Given the description of an element on the screen output the (x, y) to click on. 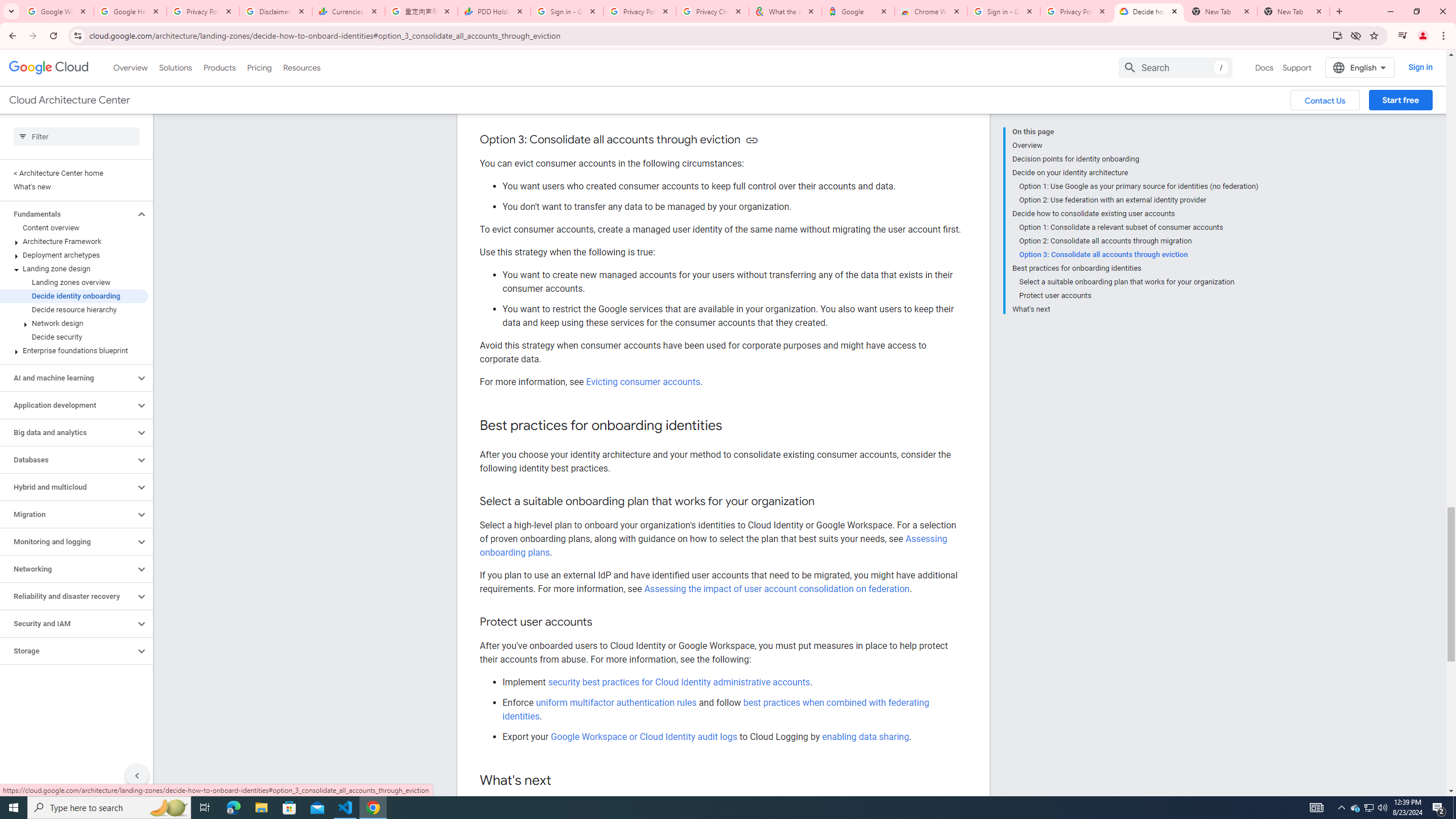
Option 2: Use federation with an external identity provider (1138, 200)
Decision points for identity onboarding (1134, 159)
Decide on your identity architecture (1134, 172)
Decide security (74, 336)
Evicting consumer accounts (642, 381)
Pricing (259, 67)
Hide side navigation (136, 775)
